Given the description of an element on the screen output the (x, y) to click on. 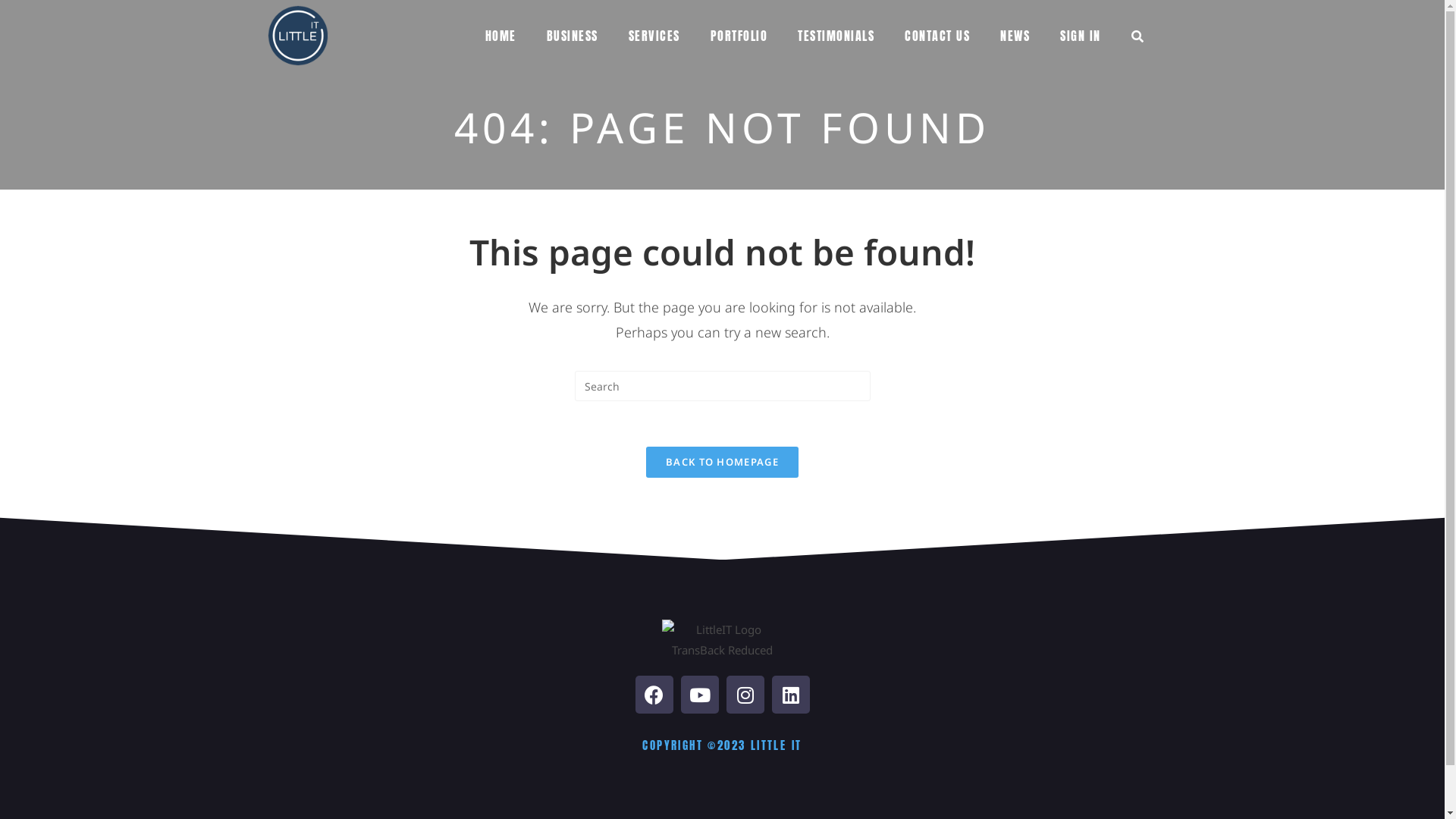
LittleIT Logo TransBack Reduced Element type: hover (721, 639)
HOME Element type: text (500, 35)
SIGN IN Element type: text (1080, 35)
CONTACT US Element type: text (937, 35)
TESTIMONIALS Element type: text (835, 35)
SERVICES Element type: text (653, 35)
PORTFOLIO Element type: text (738, 35)
NEWS Element type: text (1014, 35)
BACK TO HOMEPAGE Element type: text (722, 461)
BUSINESS Element type: text (571, 35)
